Given the description of an element on the screen output the (x, y) to click on. 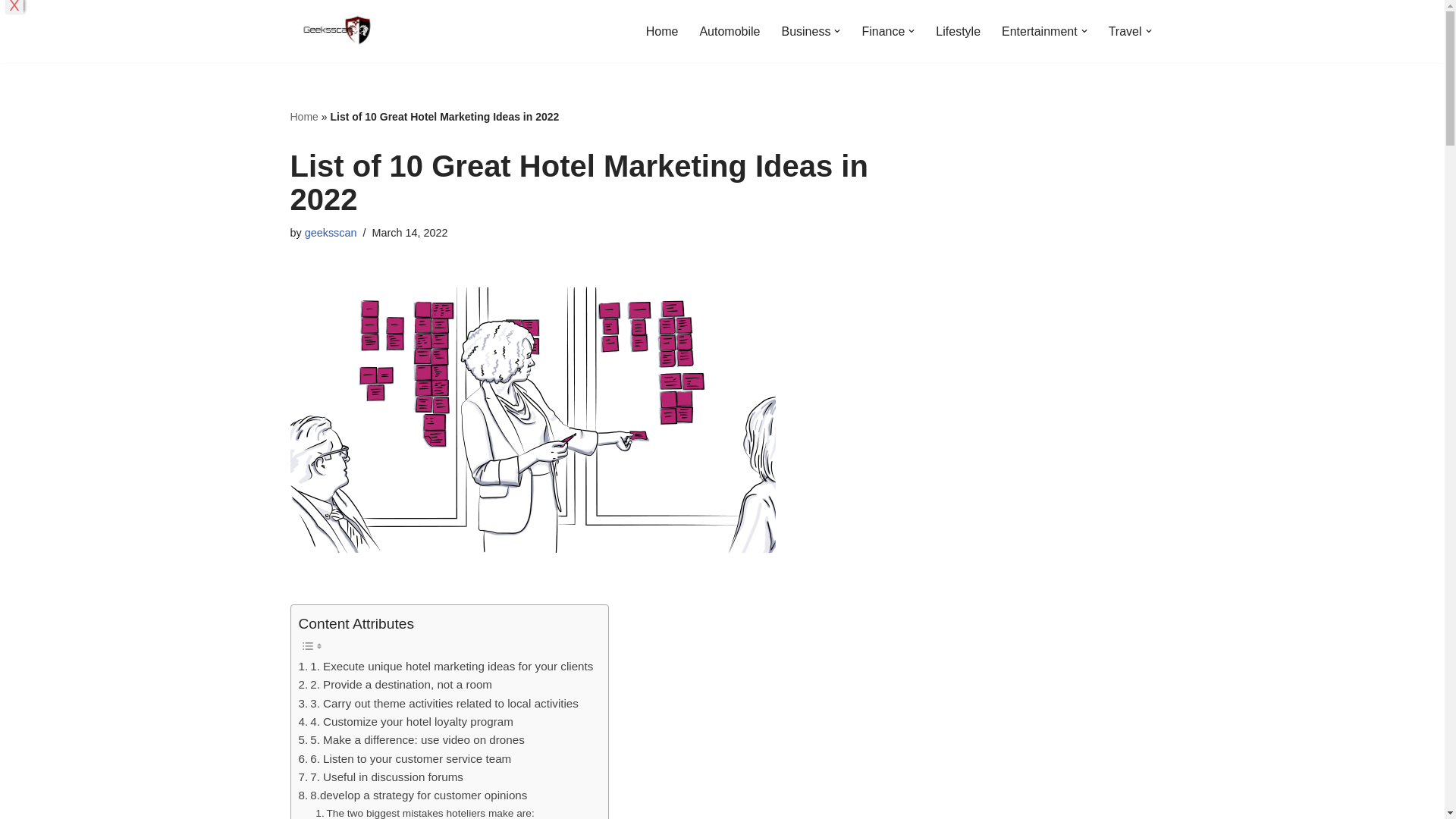
Entertainment (1039, 31)
Automobile (729, 31)
8.develop a strategy for customer opinions (412, 795)
Skip to content (11, 31)
4. Customize your hotel loyalty program (405, 721)
Posts by geeksscan (330, 232)
5.  Make a difference: use video on drones (411, 740)
Business (804, 31)
Home (662, 31)
1. Execute unique hotel marketing ideas for your clients (446, 666)
Travel (1124, 31)
3. Carry out theme activities related to local activities (438, 703)
7. Useful in discussion forums (380, 777)
2. Provide a destination, not a room (395, 684)
Finance (882, 31)
